Given the description of an element on the screen output the (x, y) to click on. 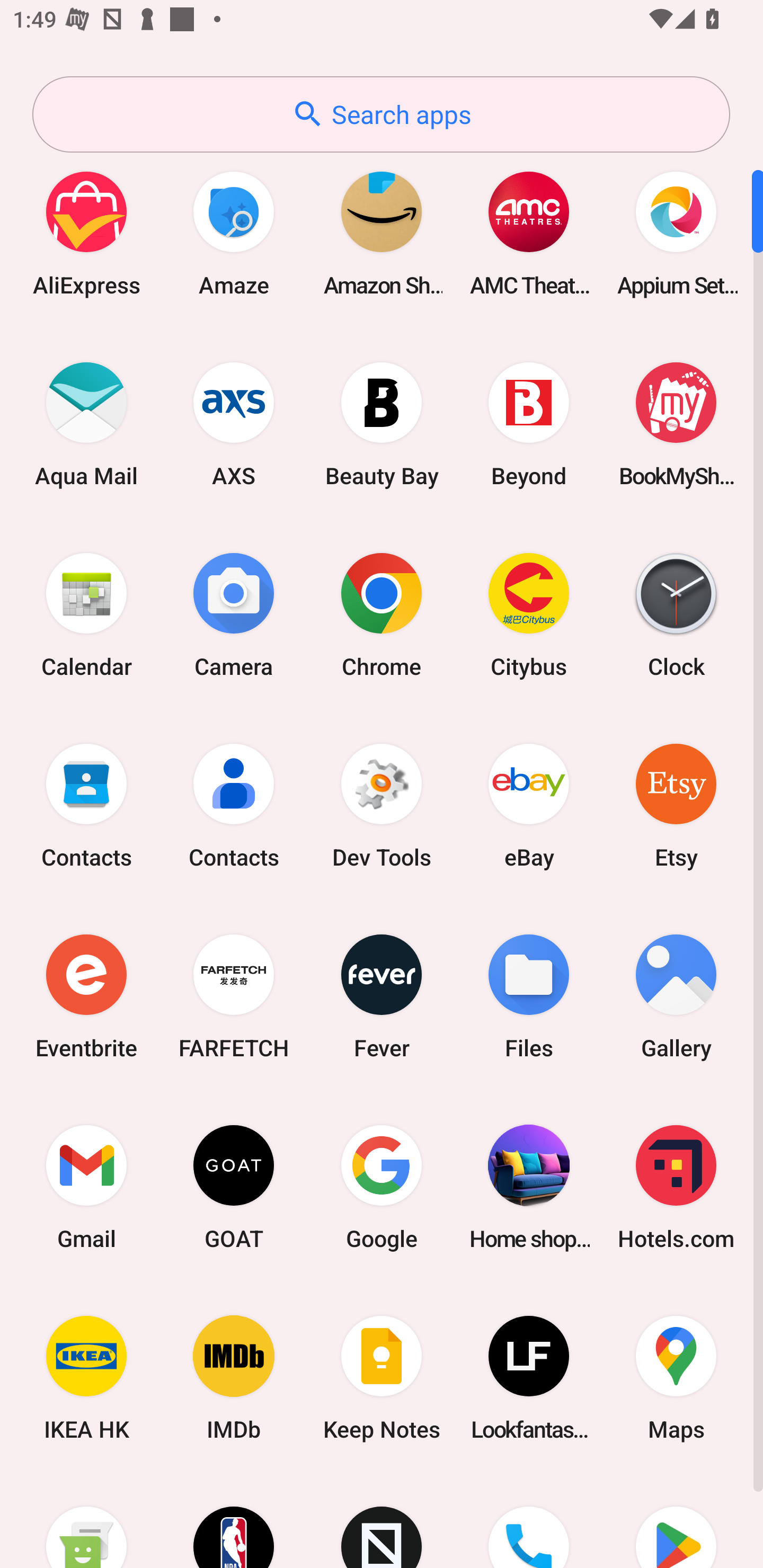
  Search apps (381, 114)
AliExpress (86, 233)
Amaze (233, 233)
Amazon Shopping (381, 233)
AMC Theatres (528, 233)
Appium Settings (676, 233)
Aqua Mail (86, 424)
AXS (233, 424)
Beauty Bay (381, 424)
Beyond (528, 424)
BookMyShow (676, 424)
Calendar (86, 614)
Camera (233, 614)
Chrome (381, 614)
Citybus (528, 614)
Clock (676, 614)
Contacts (86, 805)
Contacts (233, 805)
Dev Tools (381, 805)
eBay (528, 805)
Etsy (676, 805)
Eventbrite (86, 996)
FARFETCH (233, 996)
Fever (381, 996)
Files (528, 996)
Gallery (676, 996)
Gmail (86, 1186)
GOAT (233, 1186)
Google (381, 1186)
Home shopping (528, 1186)
Hotels.com (676, 1186)
IKEA HK (86, 1377)
IMDb (233, 1377)
Keep Notes (381, 1377)
Lookfantastic (528, 1377)
Maps (676, 1377)
Messaging (86, 1520)
NBA (233, 1520)
Novelship (381, 1520)
Phone (528, 1520)
Play Store (676, 1520)
